Given the description of an element on the screen output the (x, y) to click on. 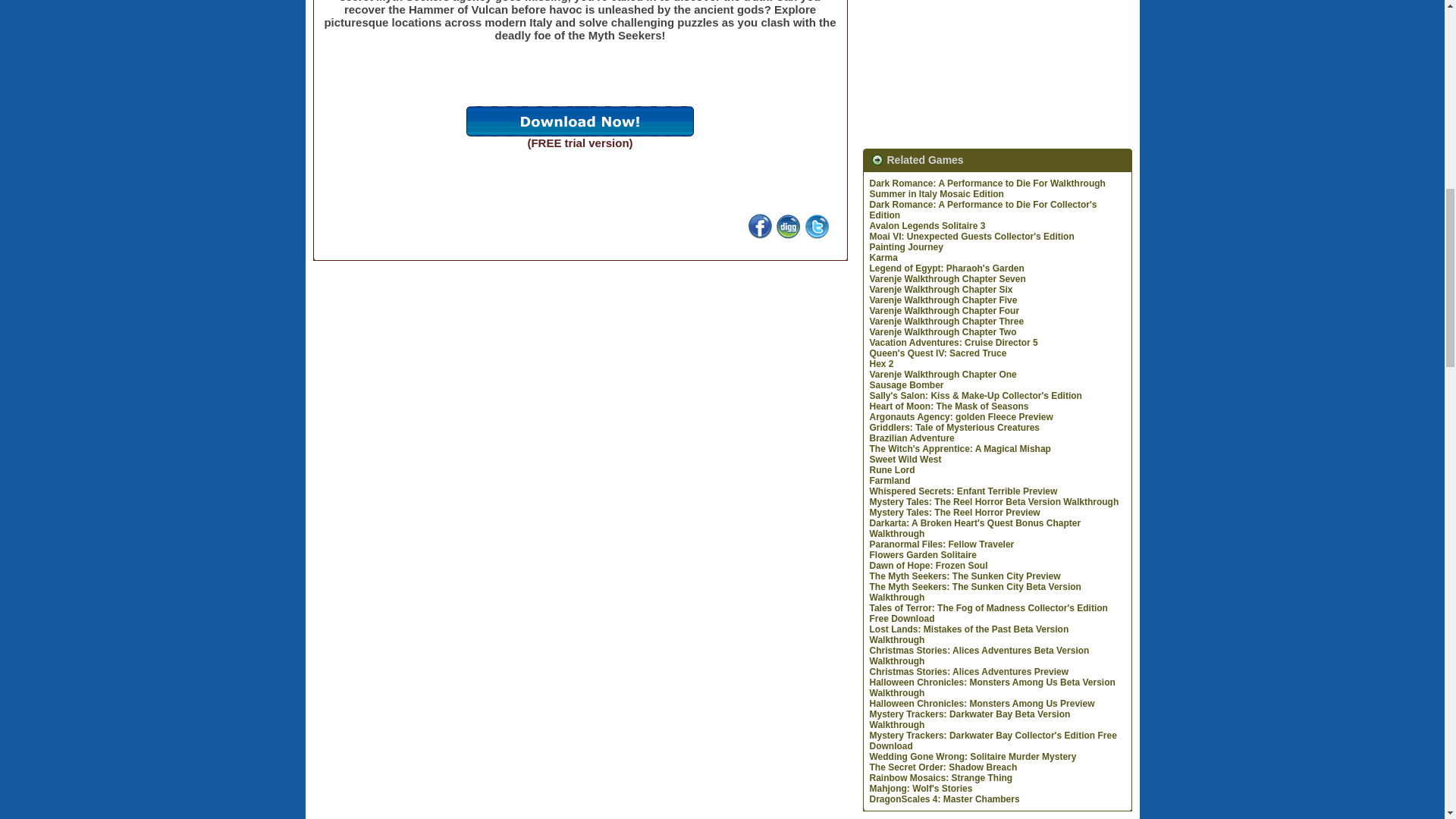
Legend of Egypt: Pharaoh's Garden (946, 267)
Varenje Walkthrough Chapter Four (944, 310)
The Myth Seekers: The Legacy of Vulcan Collector's Edition (760, 234)
Painting Journey (905, 246)
Varenje Walkthrough Chapter Six (940, 289)
Dark Romance: A Performance to Die For Collector's Edition (982, 209)
Karma (882, 257)
Avalon Legends Solitaire 3 (927, 225)
Summer in Italy Mosaic Edition (936, 194)
Dark Romance: A Performance to Die For Walkthrough (987, 183)
